Given the description of an element on the screen output the (x, y) to click on. 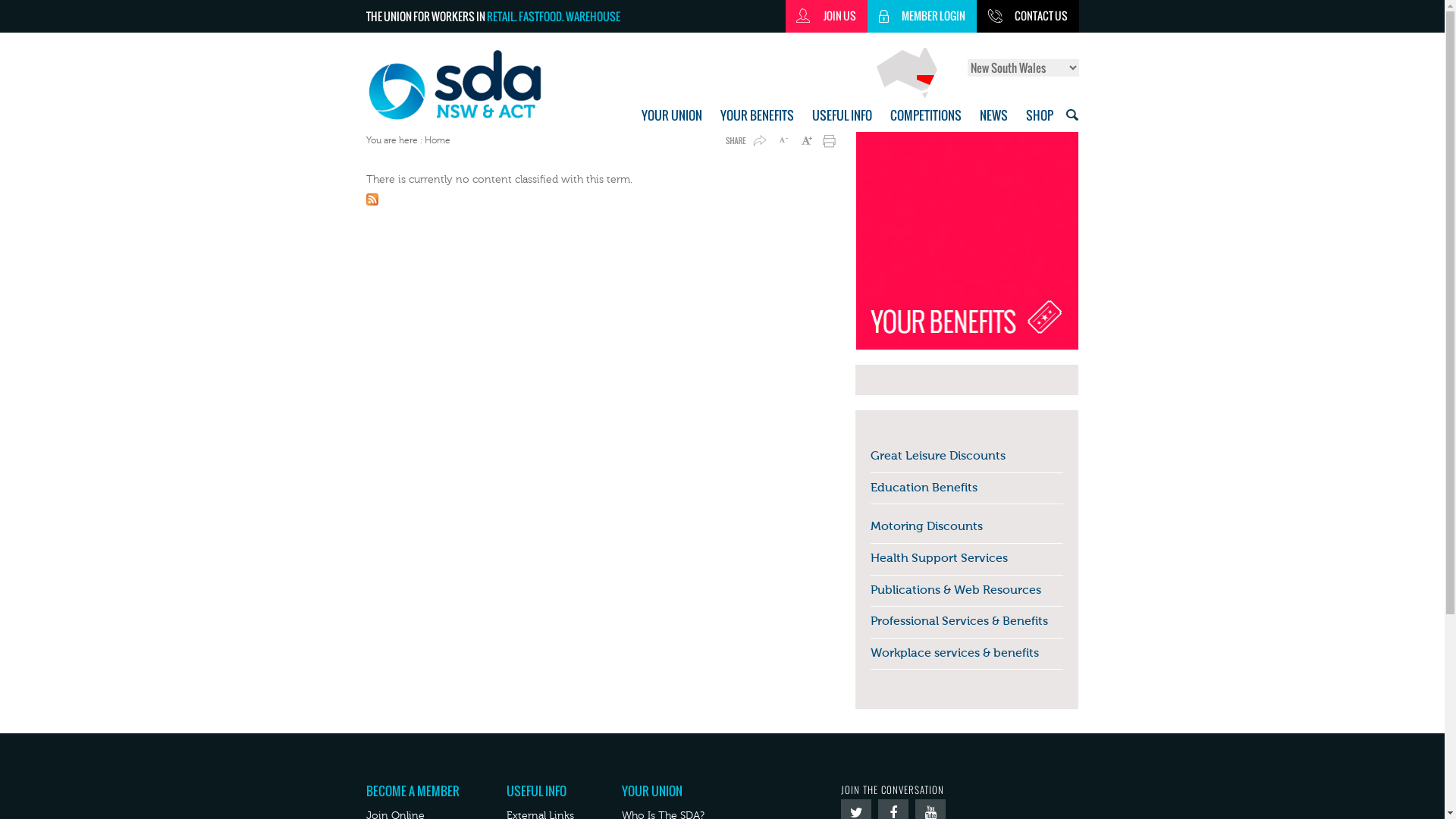
YOUR UNION Element type: text (671, 114)
BECOME A MEMBER Element type: text (411, 790)
COMPETITIONS Element type: text (925, 114)
Education Benefits Element type: text (923, 484)
Subscribe to RSS - Free Benefits Element type: hover (602, 201)
Motoring Discounts Element type: text (926, 522)
Home Element type: text (437, 139)
YOUR UNION Element type: text (651, 790)
CONTACT US Element type: text (1027, 16)
Share Element type: text (744, 140)
Print Element type: text (826, 140)
USEFUL INFO Element type: text (841, 114)
Jump to navigation Element type: text (722, 1)
YOUR BENEFITS Element type: text (757, 114)
Professional Services & Benefits Element type: text (959, 617)
A Element type: text (782, 140)
JOIN US Element type: text (826, 16)
MEMBER LOGIN Element type: text (921, 16)
SHOP Element type: text (1038, 114)
Home Element type: hover (473, 84)
Great Leisure Discounts Element type: text (937, 452)
Publications & Web Resources Element type: text (955, 586)
Workplace services & benefits Element type: text (954, 649)
Health Support Services Element type: text (938, 554)
A Element type: text (804, 140)
USEFUL INFO Element type: text (536, 790)
NEWS Element type: text (993, 114)
